Given the description of an element on the screen output the (x, y) to click on. 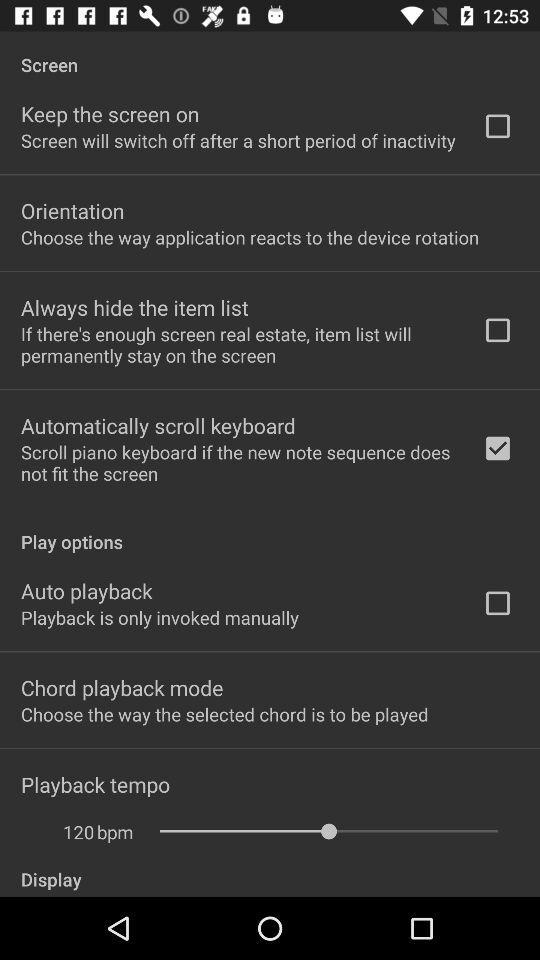
select the icon above the automatically scroll keyboard item (238, 344)
